Given the description of an element on the screen output the (x, y) to click on. 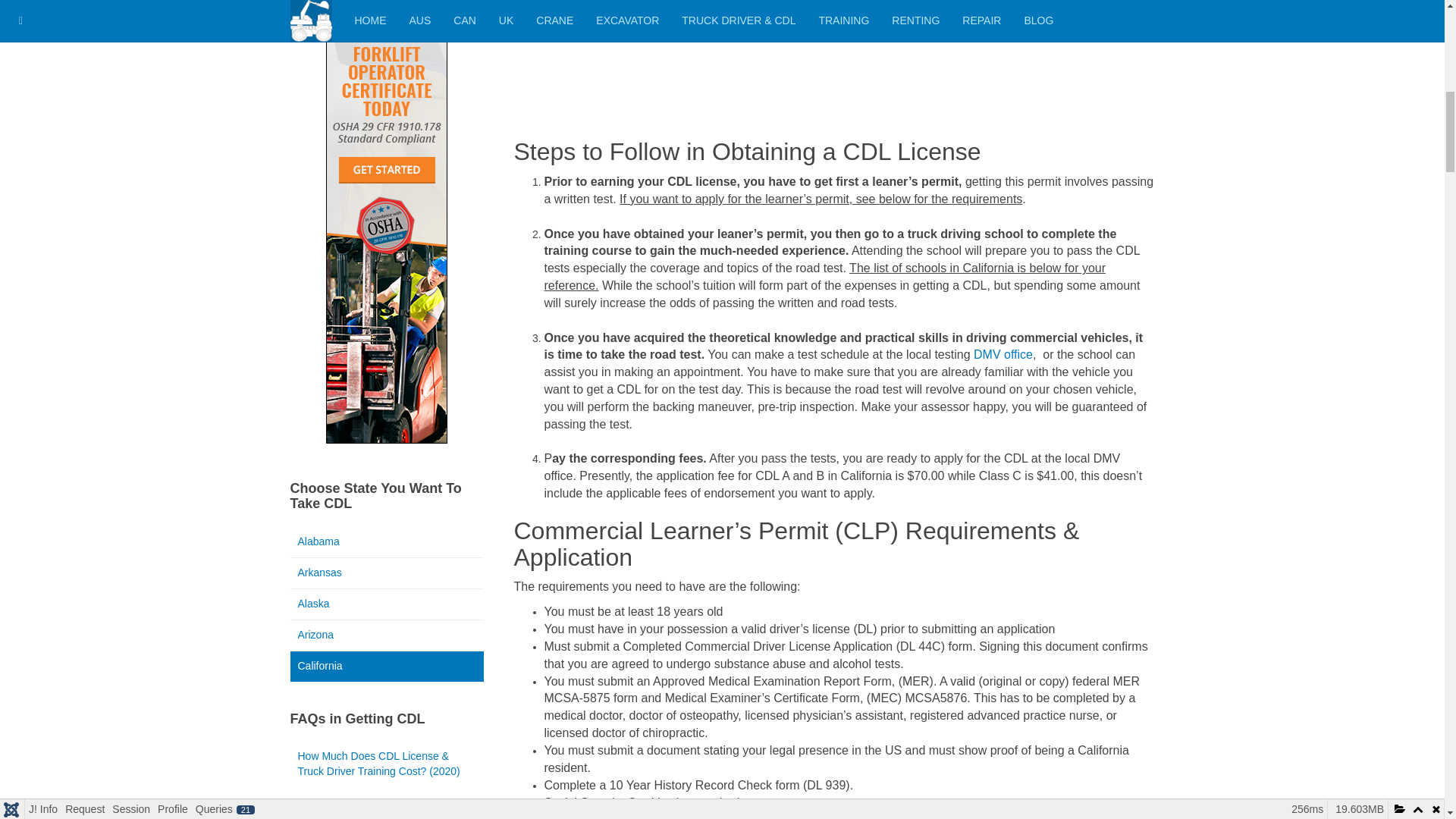
Advertisement (833, 60)
Alabama (386, 542)
Alaska (386, 603)
Get Your Forklift Certificate Today (386, 215)
California (386, 666)
Arizona (386, 634)
Arkansas (386, 572)
DMV office (1003, 354)
